Given the description of an element on the screen output the (x, y) to click on. 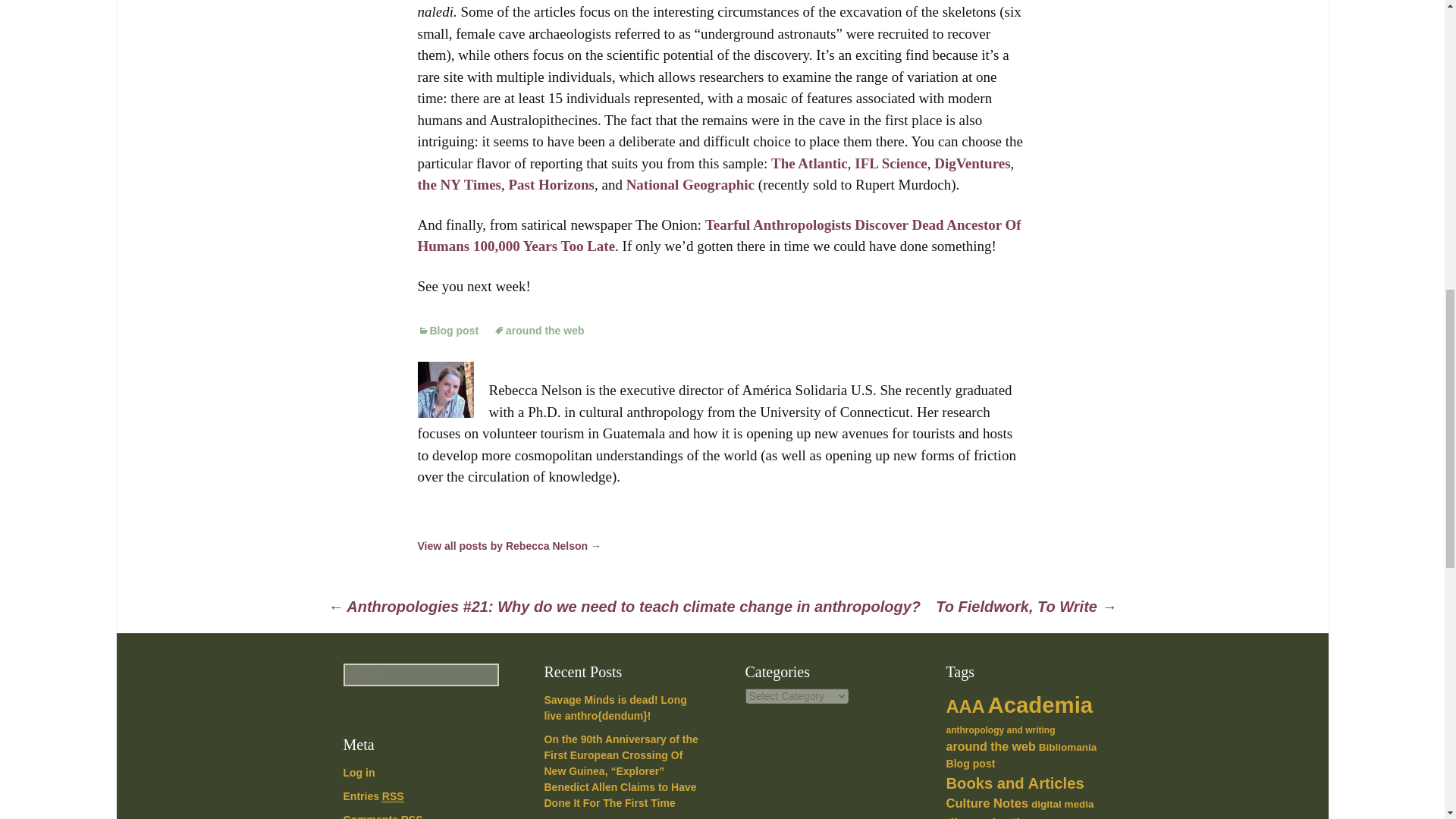
around the web (538, 330)
IFL Science (890, 163)
Really Simple Syndication (412, 816)
the NY Times (458, 184)
DigVentures (972, 163)
Blog post (447, 330)
Past Horizons (551, 184)
National Geographic (690, 184)
The Atlantic (809, 163)
